Given the description of an element on the screen output the (x, y) to click on. 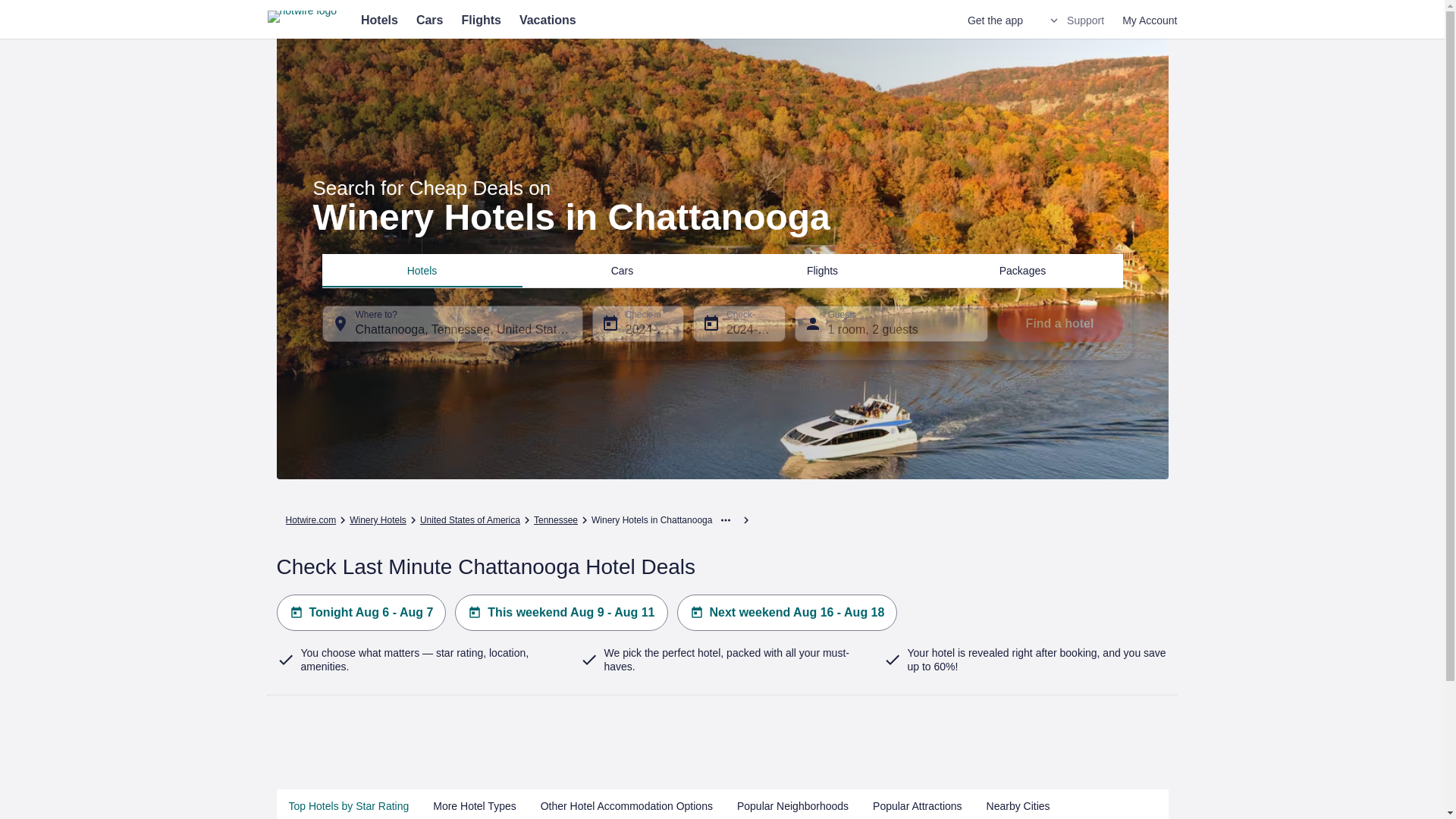
United States of America (469, 520)
Find a hotel (1058, 322)
Cars (621, 269)
Nearby Cities (1018, 804)
Hotels (421, 269)
Get the app (995, 20)
Hotels (379, 19)
Popular Attractions (917, 804)
